Given the description of an element on the screen output the (x, y) to click on. 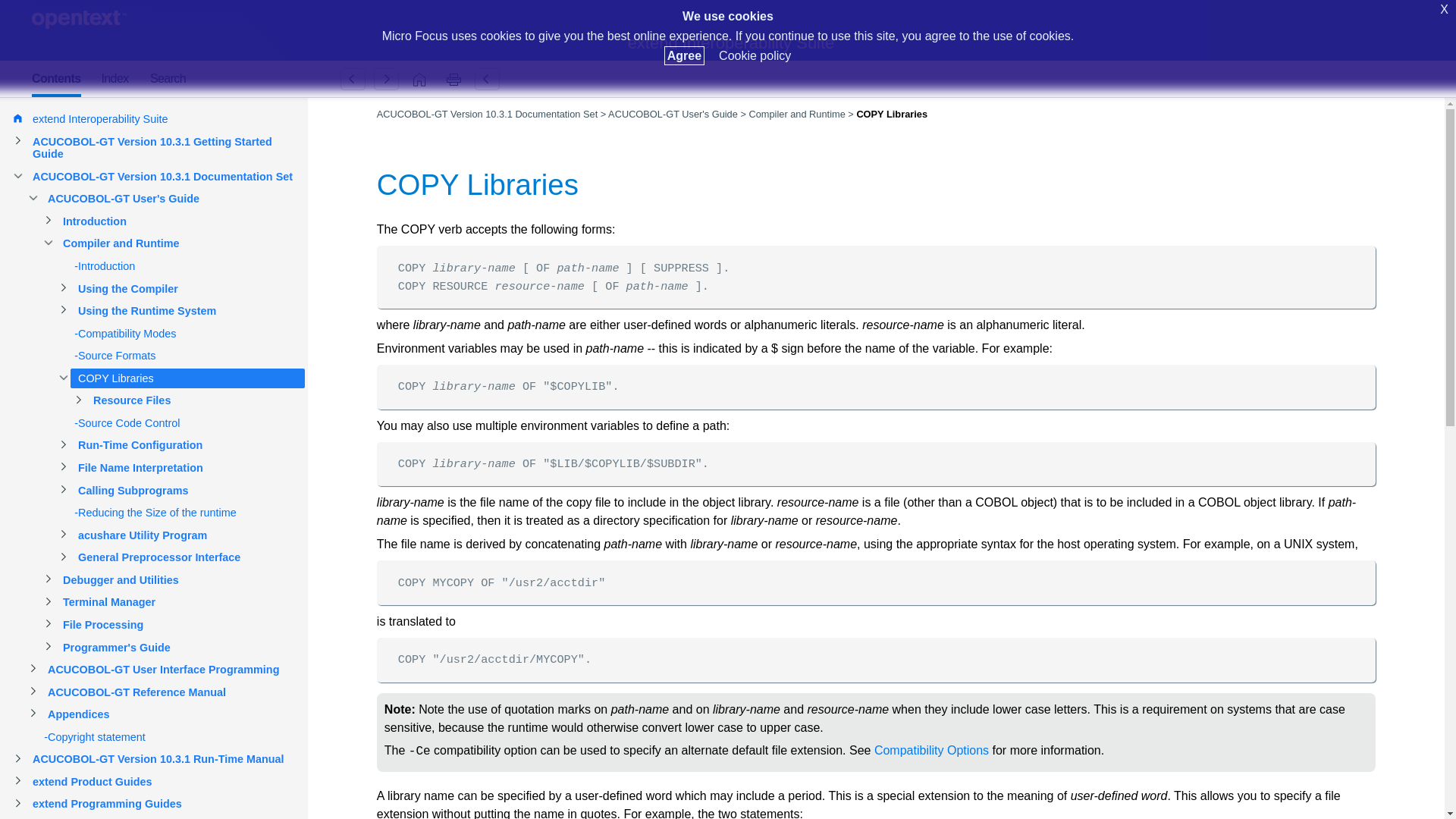
Source Formats (352, 78)
Resource Files (386, 78)
Agree (684, 55)
Cookie policy (754, 55)
